Given the description of an element on the screen output the (x, y) to click on. 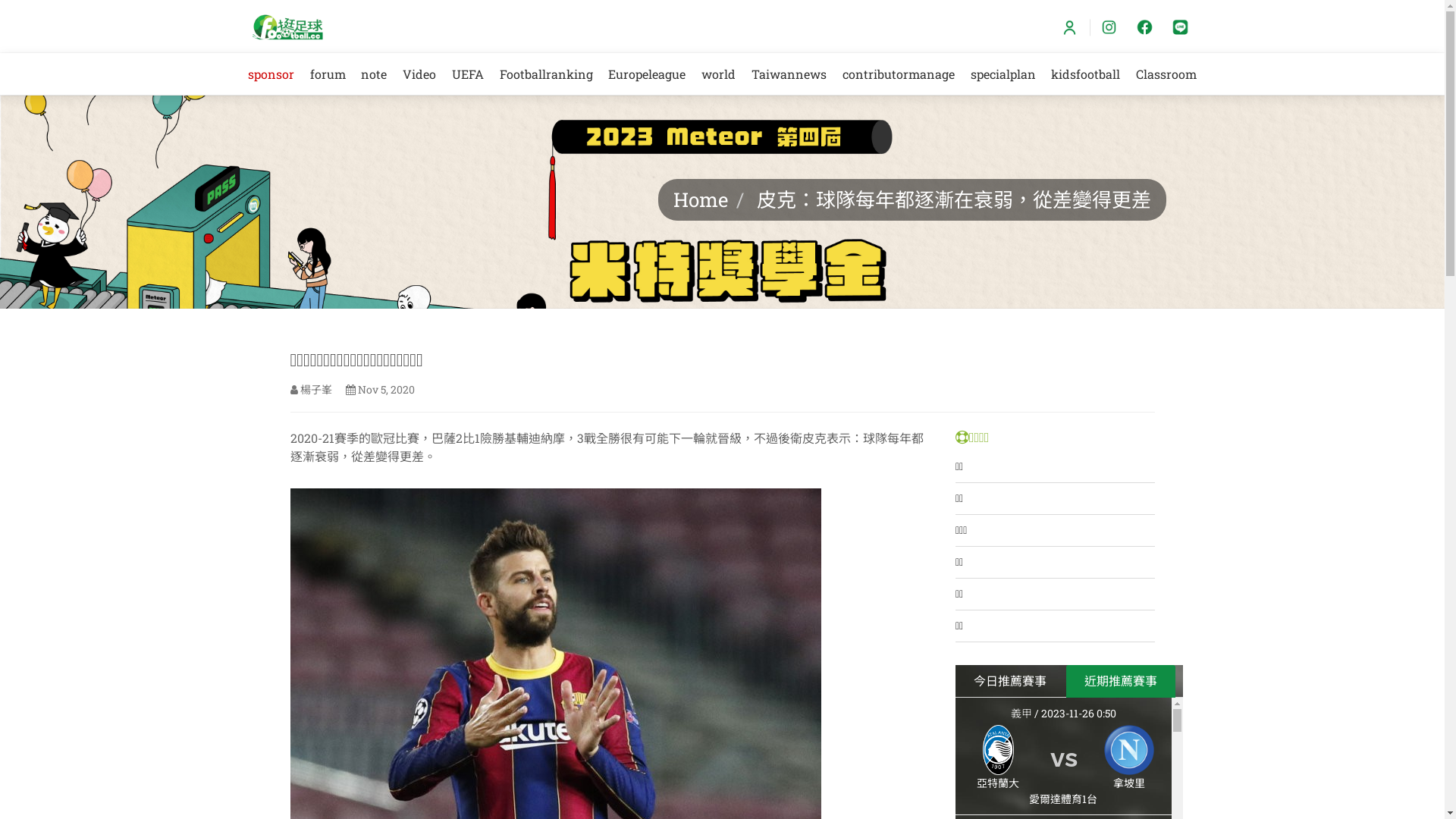
Classroom Element type: text (1166, 73)
specialplan Element type: text (1002, 73)
kidsfootball Element type: text (1085, 73)
world Element type: text (718, 73)
sponsor Element type: text (271, 73)
UEFA Element type: text (468, 73)
note Element type: text (374, 73)
Footballranking Element type: text (545, 73)
Europeleague Element type: text (647, 73)
Home Element type: text (700, 199)
Taiwannews Element type: text (789, 73)
contributormanage Element type: text (897, 73)
Video Element type: text (419, 73)
forum Element type: text (327, 73)
